Given the description of an element on the screen output the (x, y) to click on. 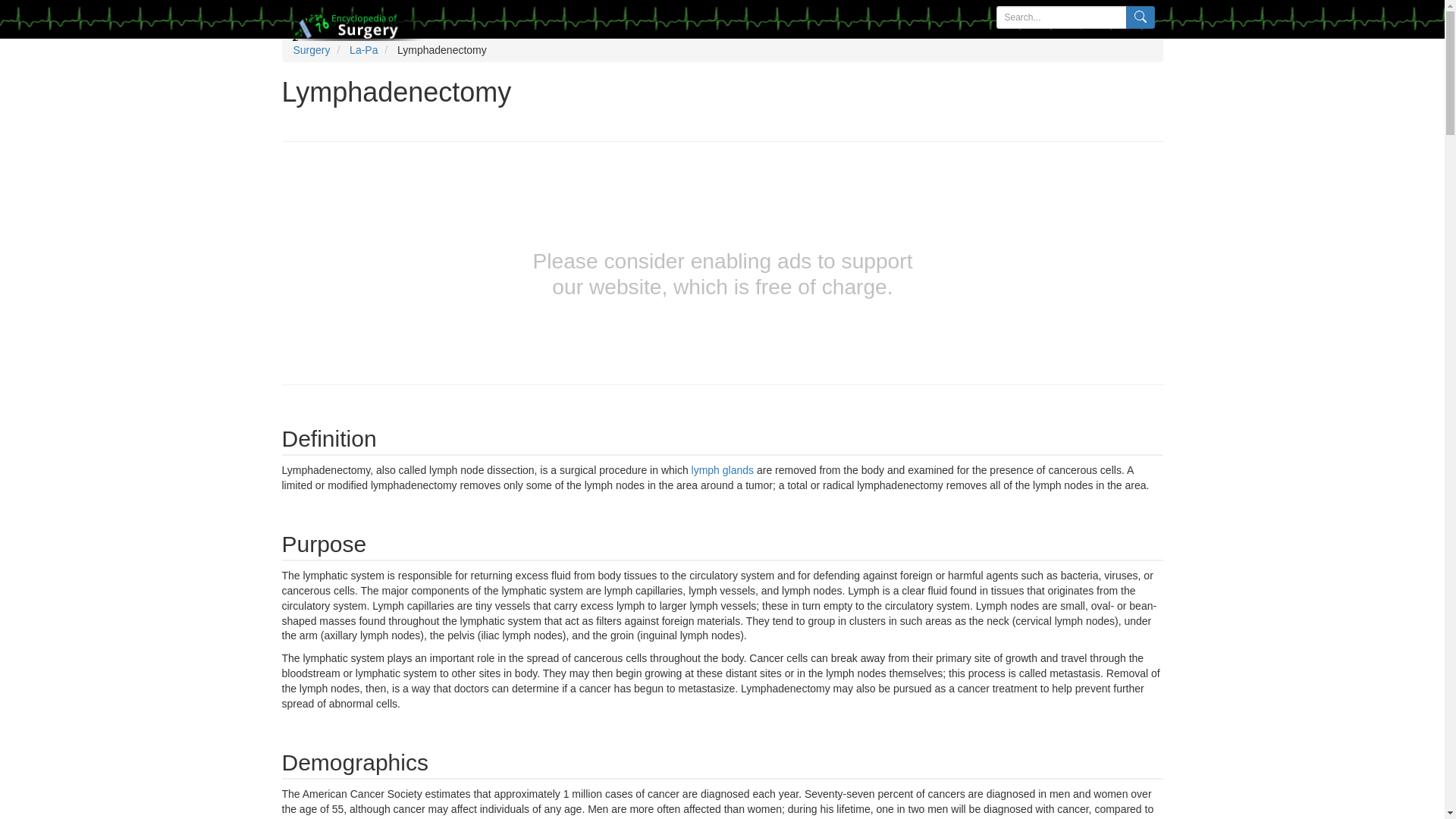
La-Pa (363, 50)
Advertisement (138, 306)
lymph glands (722, 469)
View 'lymph glands' definition from Wikipedia (722, 469)
Surgery (311, 50)
